Given the description of an element on the screen output the (x, y) to click on. 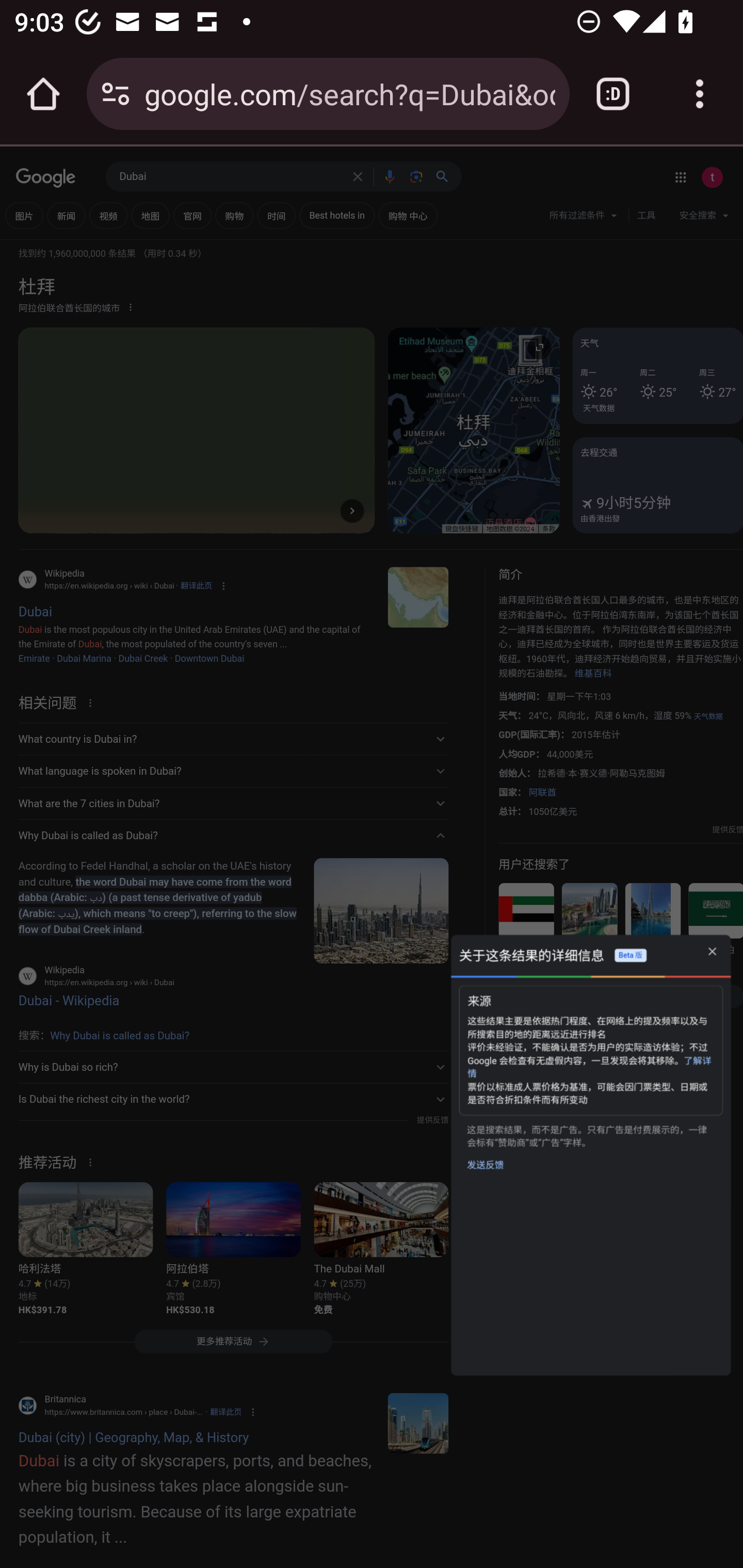
Open the home page (43, 93)
Connection is secure (115, 93)
Switch or close tabs (612, 93)
Customize and control Google Chrome (699, 93)
关闭“关于这条结果” (711, 951)
了解详情 (588, 1066)
发送反馈 (484, 1164)
